Given the description of an element on the screen output the (x, y) to click on. 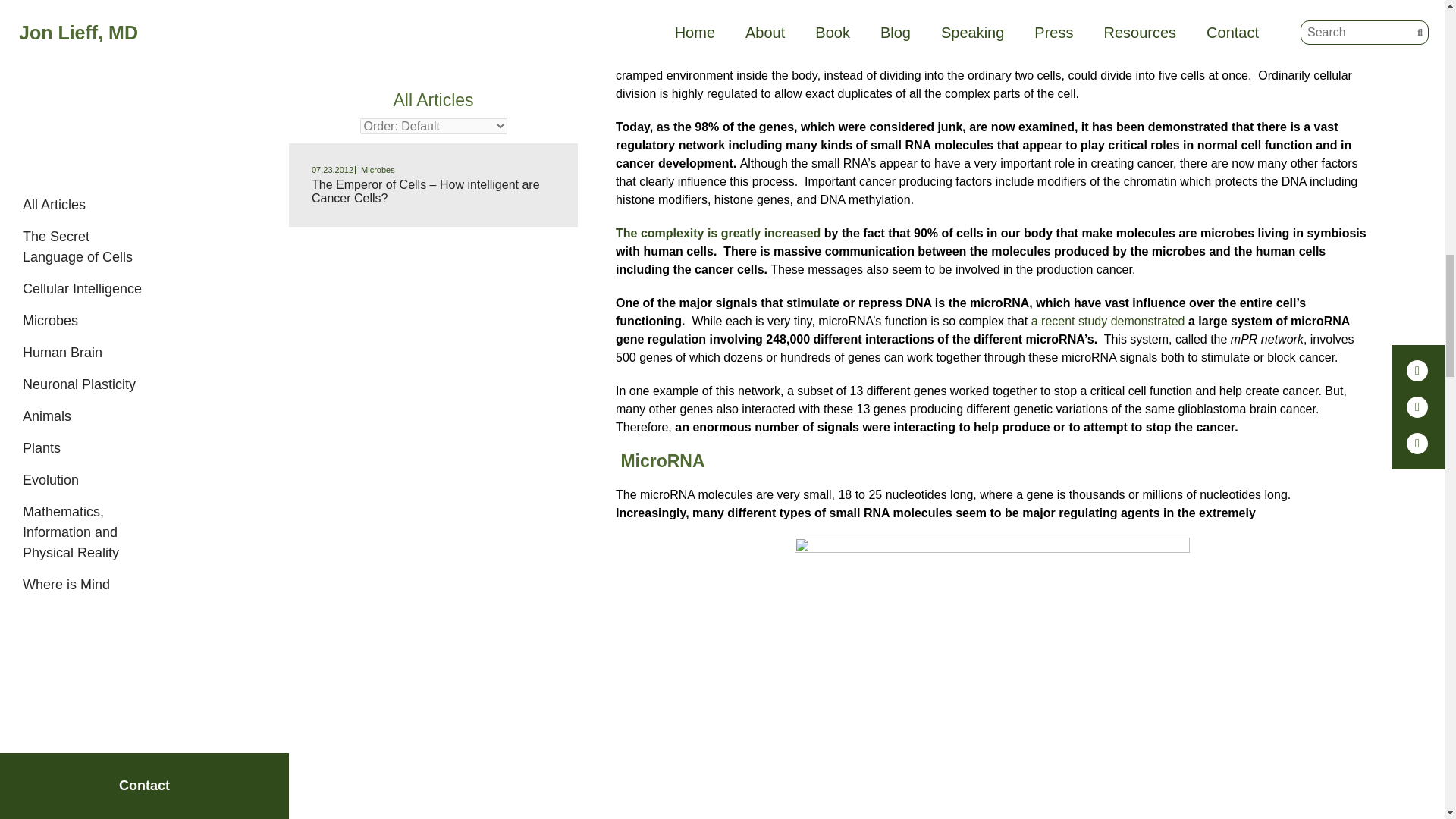
The complexity is greatly increased (718, 232)
a recent study demonstrated (1107, 320)
